Given the description of an element on the screen output the (x, y) to click on. 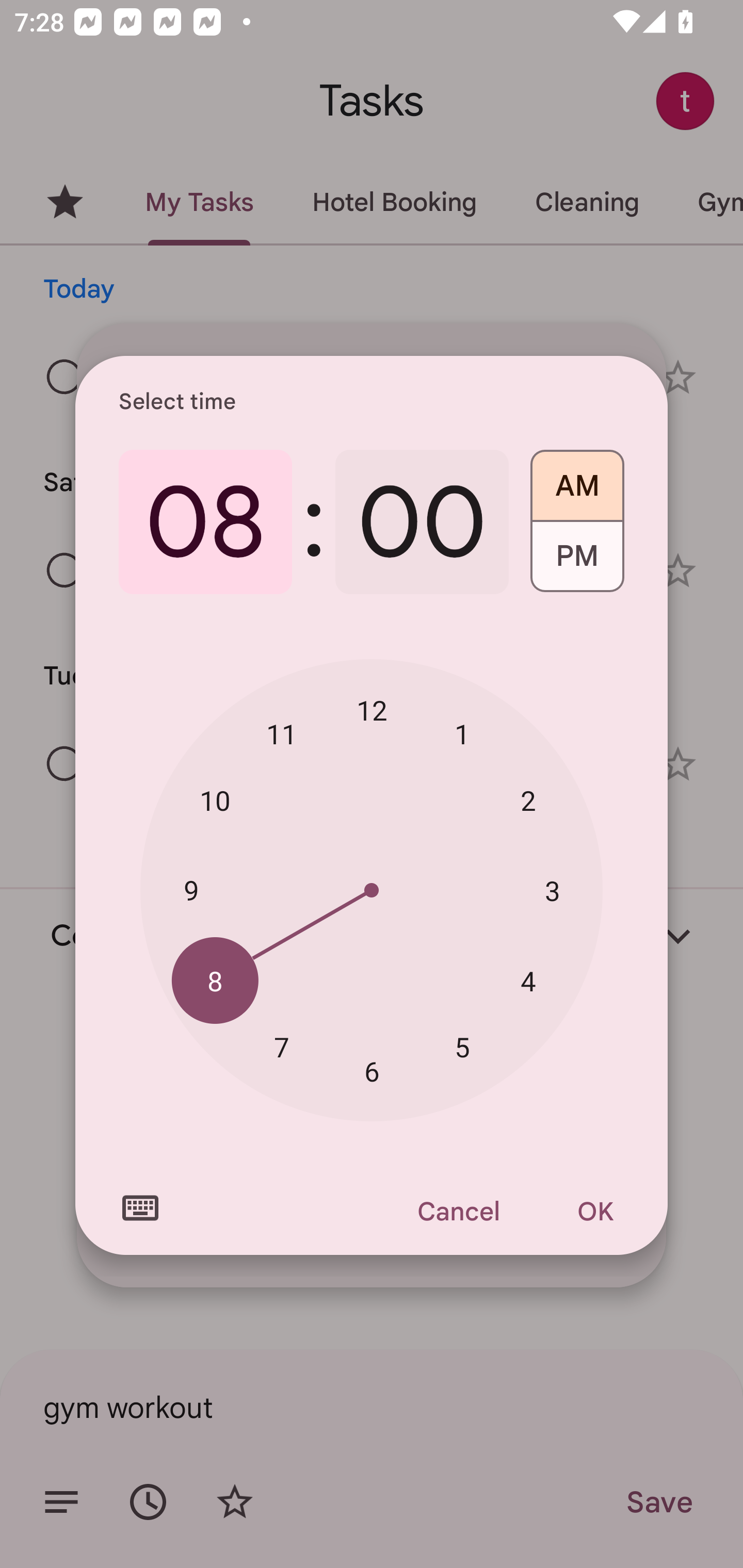
AM (577, 478)
08 8 o'clock (204, 522)
00 0 minutes (421, 522)
PM (577, 563)
12 12 o'clock (371, 710)
11 11 o'clock (281, 733)
1 1 o'clock (462, 733)
10 10 o'clock (214, 800)
2 2 o'clock (528, 800)
9 9 o'clock (190, 889)
3 3 o'clock (551, 890)
8 8 o'clock (214, 980)
4 4 o'clock (528, 980)
7 7 o'clock (281, 1046)
5 5 o'clock (462, 1046)
6 6 o'clock (371, 1071)
Switch to text input mode for the time input. (140, 1208)
Cancel (458, 1211)
OK (595, 1211)
